Given the description of an element on the screen output the (x, y) to click on. 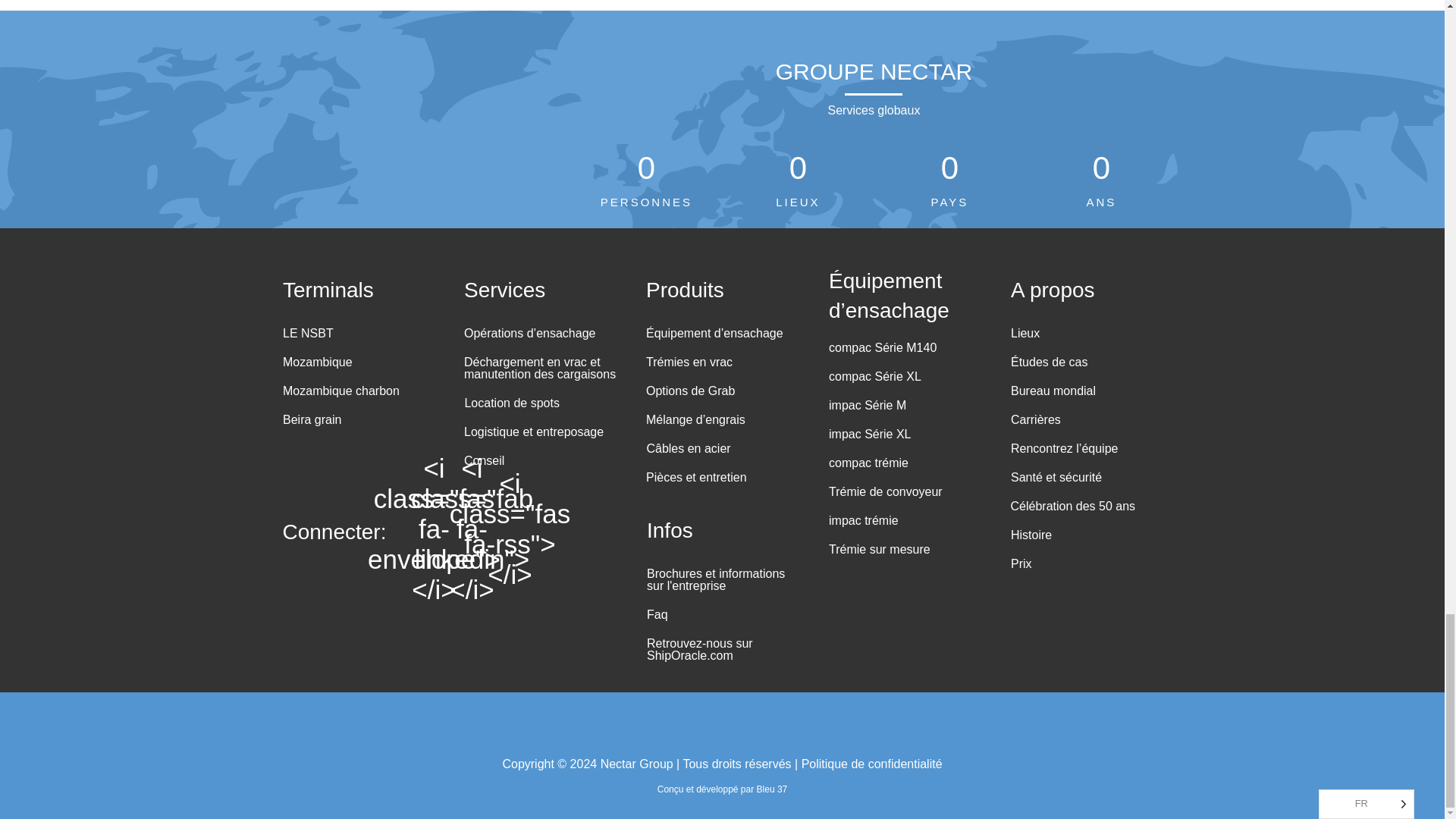
Location de spots (508, 405)
Beira grain (308, 423)
Mozambique (314, 364)
Services (504, 287)
RSS (509, 529)
Mozambique charbon (337, 394)
LE NSBT (304, 336)
email (433, 529)
Terminals (327, 287)
Linkedin (471, 529)
